Given the description of an element on the screen output the (x, y) to click on. 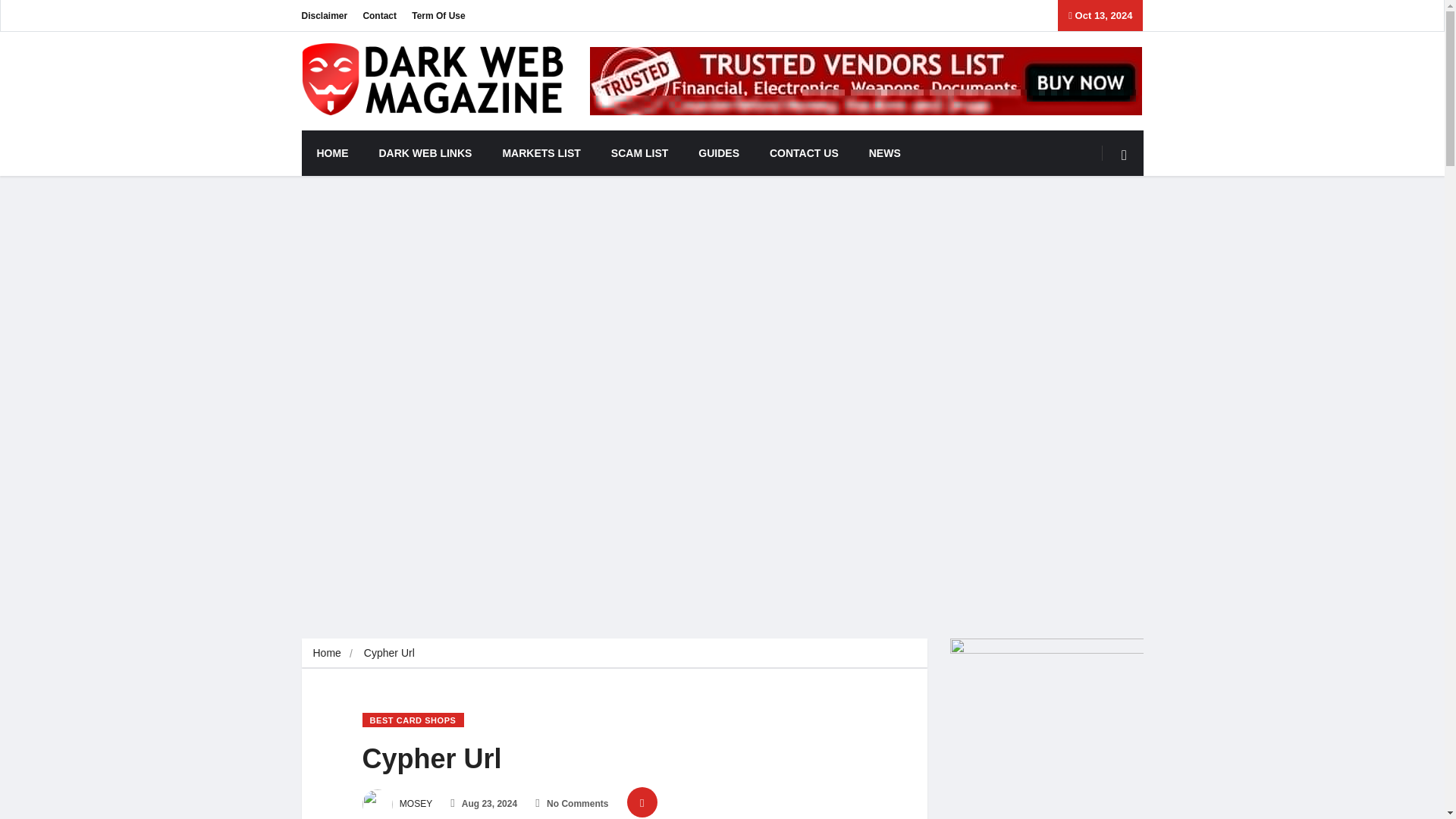
Term Of Use (438, 15)
Home (326, 653)
CONTACT US (803, 153)
MOSEY (397, 803)
Contact (379, 15)
MARKETS LIST (540, 153)
Disclaimer (324, 15)
DARK WEB LINKS (425, 153)
BEST CARD SHOPS (413, 719)
HOME (332, 153)
